Given the description of an element on the screen output the (x, y) to click on. 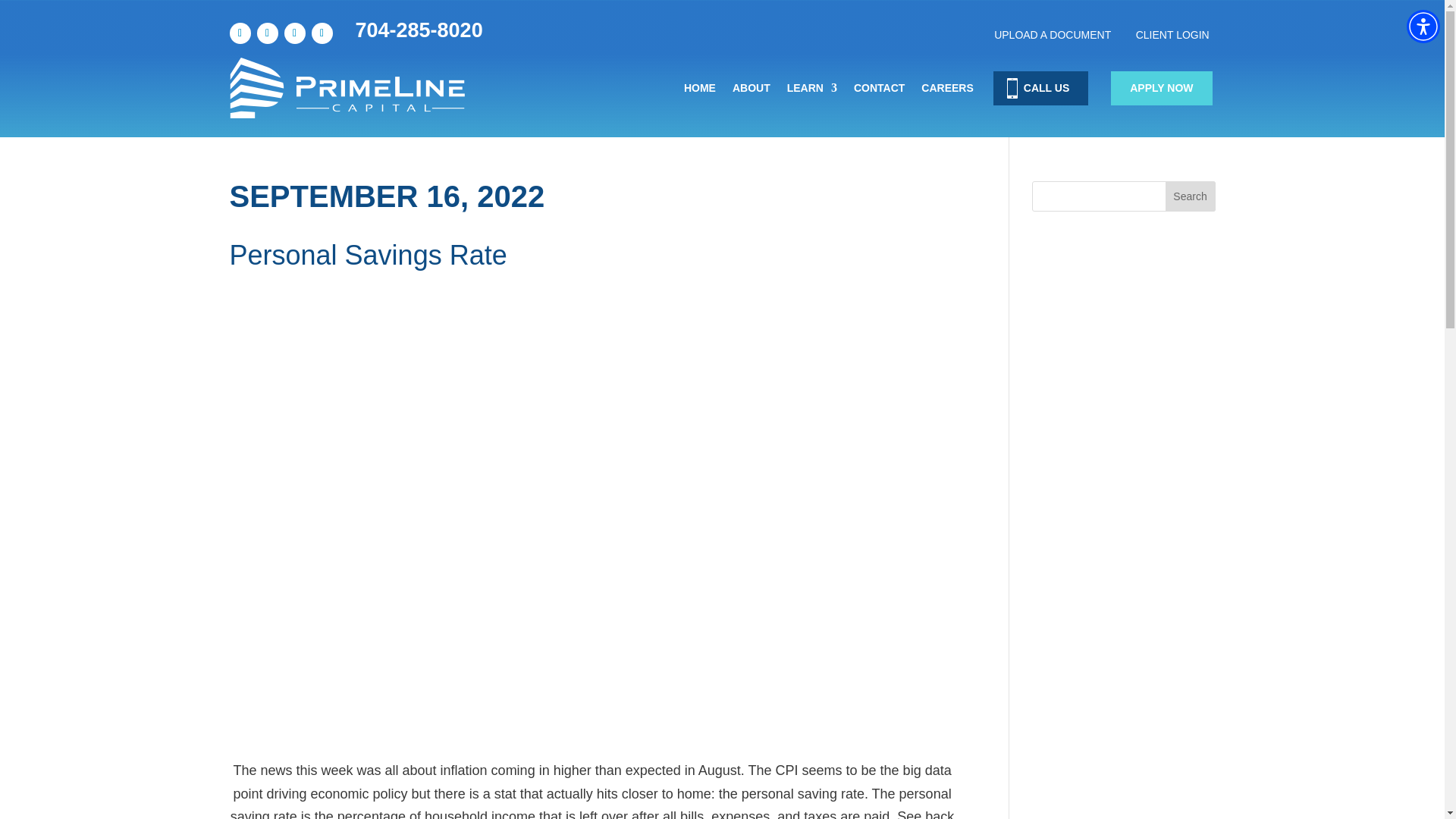
Search (1190, 195)
Search (1190, 195)
CALL US (1045, 87)
Follow on Youtube (293, 33)
Follow on Facebook (239, 33)
HOME (700, 87)
LEARN (812, 87)
Follow on LinkedIn (267, 33)
Accessibility Menu (1422, 26)
CAREERS (946, 87)
CONTACT (878, 87)
ABOUT (751, 87)
APPLY NOW (1160, 87)
Follow on Instagram (321, 33)
